Given the description of an element on the screen output the (x, y) to click on. 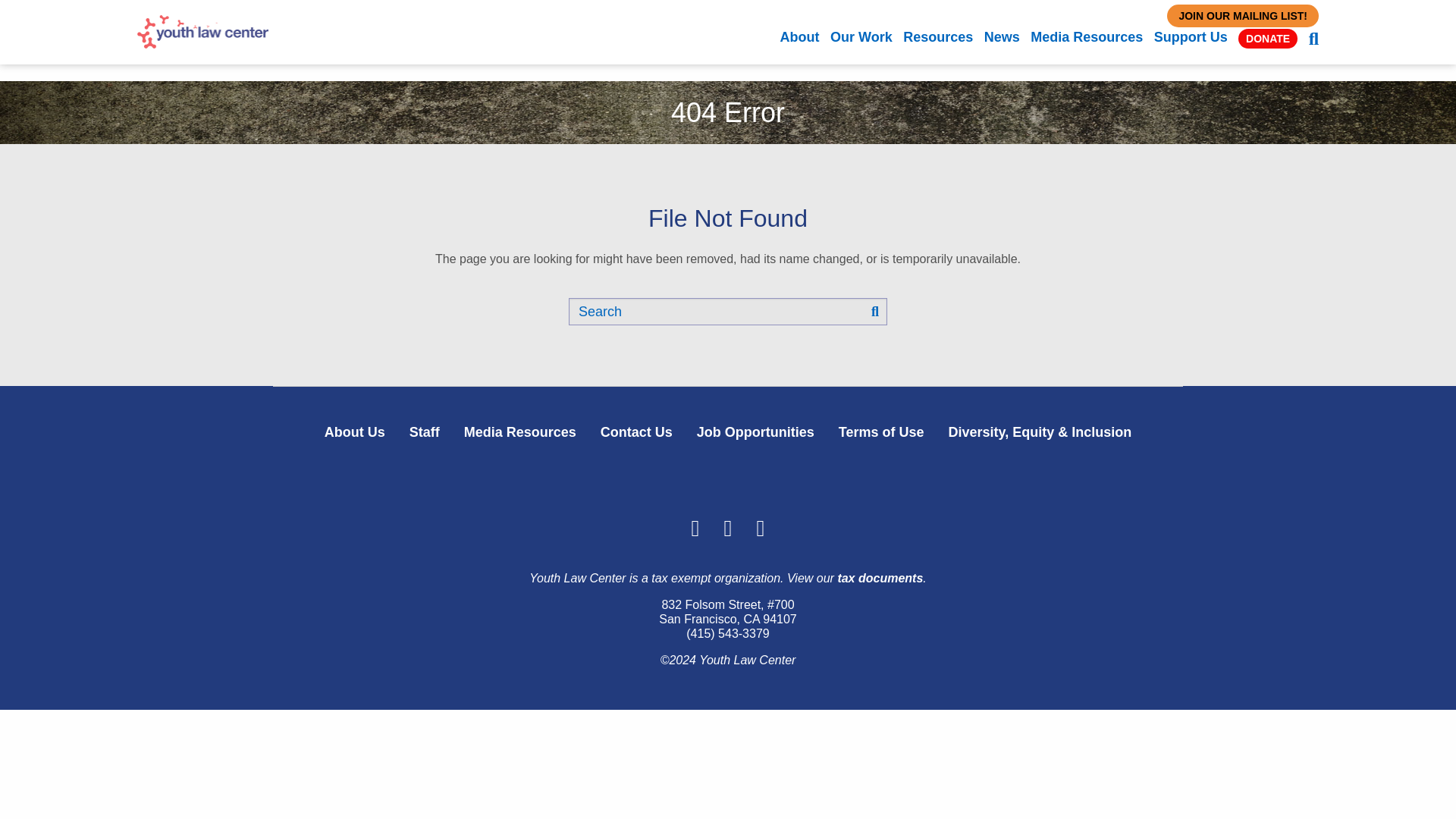
tax documents (880, 577)
Media Resources (1086, 37)
Job Opportunities (755, 431)
Staff (424, 431)
Resources (937, 37)
Terms of Use (881, 431)
DONATE (1268, 38)
News (1002, 37)
About Us (355, 431)
Support Us (1190, 37)
About (799, 37)
SUPPORT US (725, 17)
Media Resources (519, 431)
Our Work (860, 37)
